Given the description of an element on the screen output the (x, y) to click on. 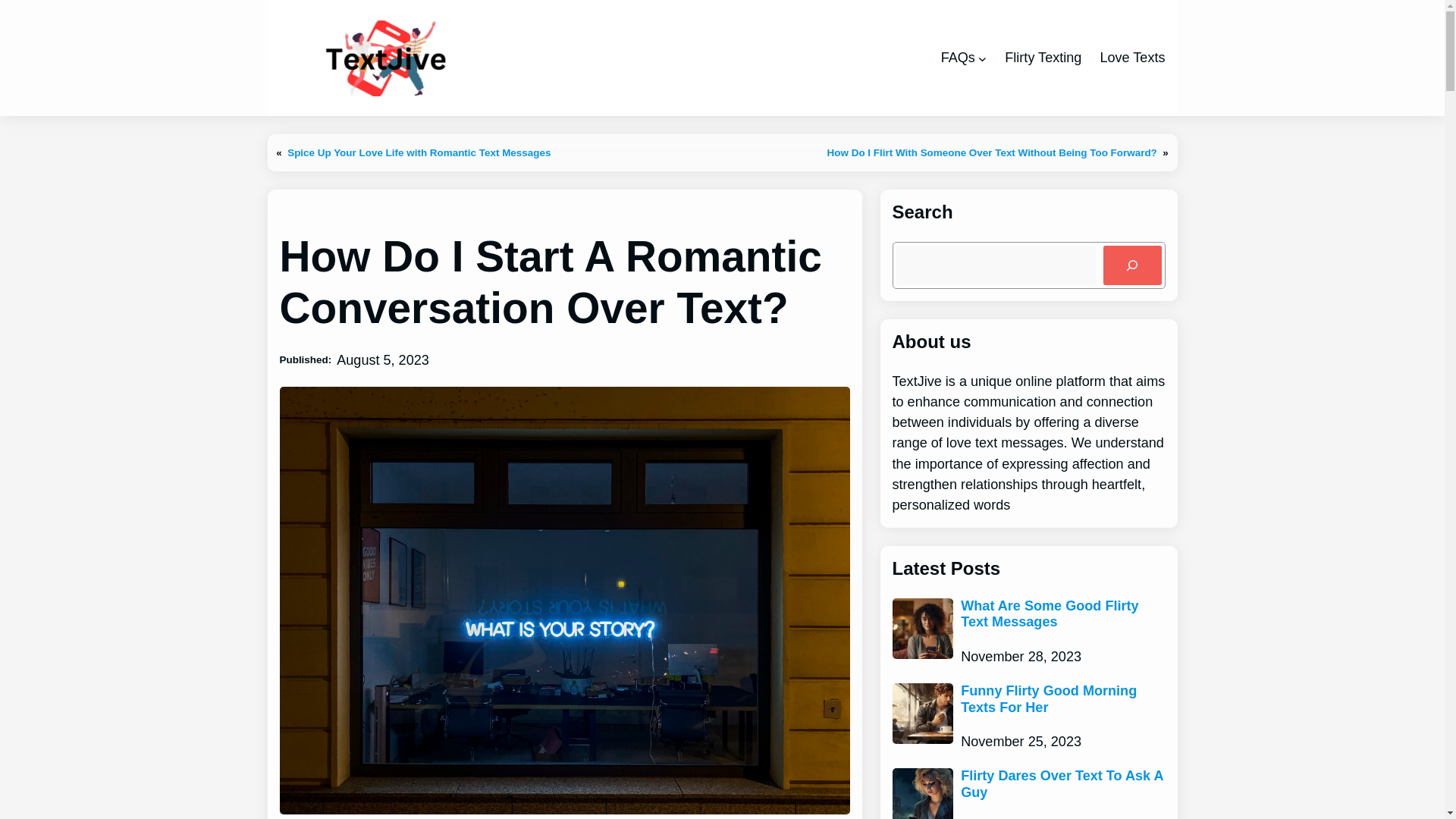
Flirty Texting (1042, 57)
FAQs (957, 57)
Spice Up Your Love Life with Romantic Text Messages (418, 152)
Love Texts (1131, 57)
